Given the description of an element on the screen output the (x, y) to click on. 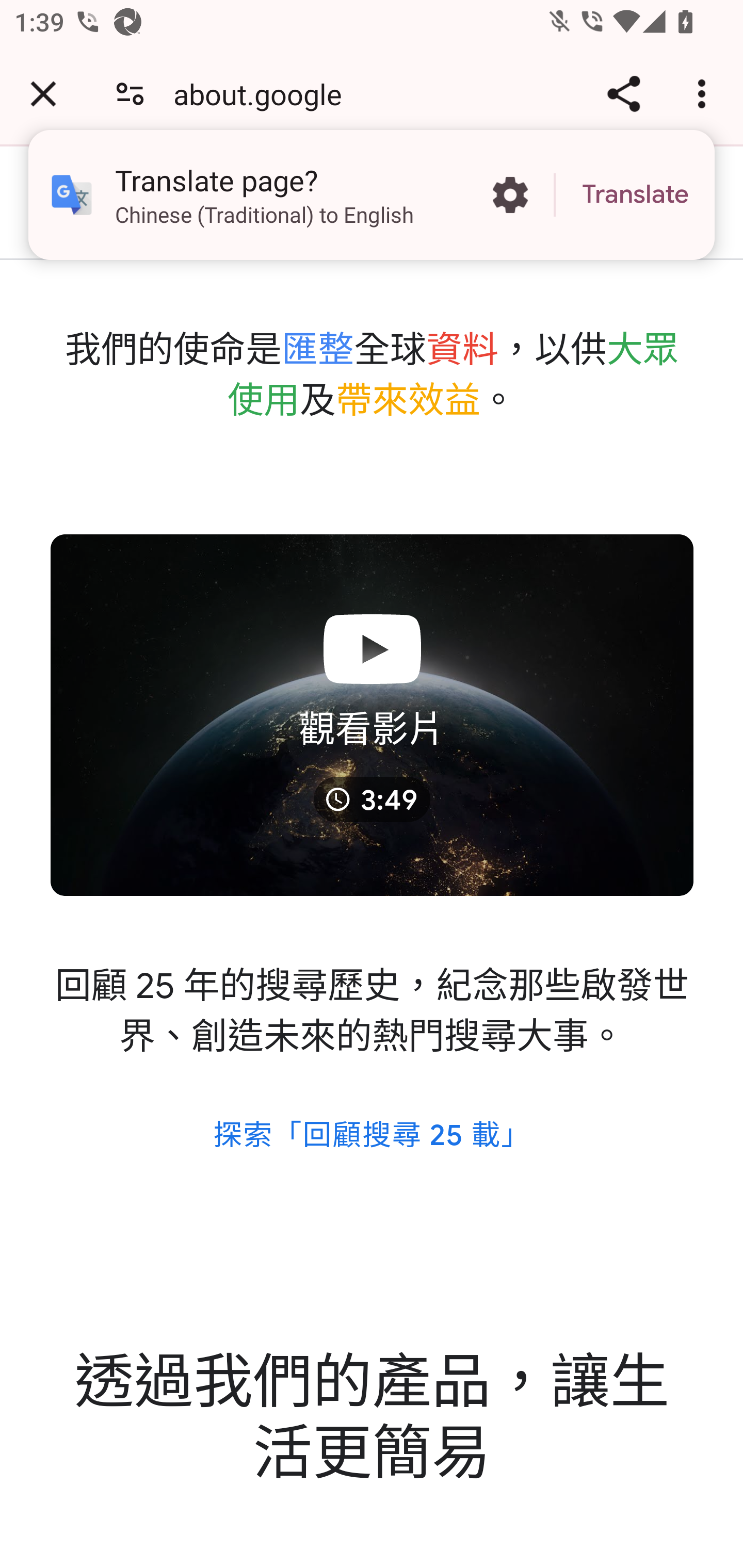
Close tab (43, 93)
Share (623, 93)
Customize and control Google Chrome (705, 93)
Connection is secure (129, 93)
about.google (264, 93)
Translate (634, 195)
More options in the Translate page? (509, 195)
Open the navigation drawer (65, 202)
觀看影片. 影片長度 - 3:49 (372, 715)
探索「回顧搜尋 25 載」 (371, 1134)
